Given the description of an element on the screen output the (x, y) to click on. 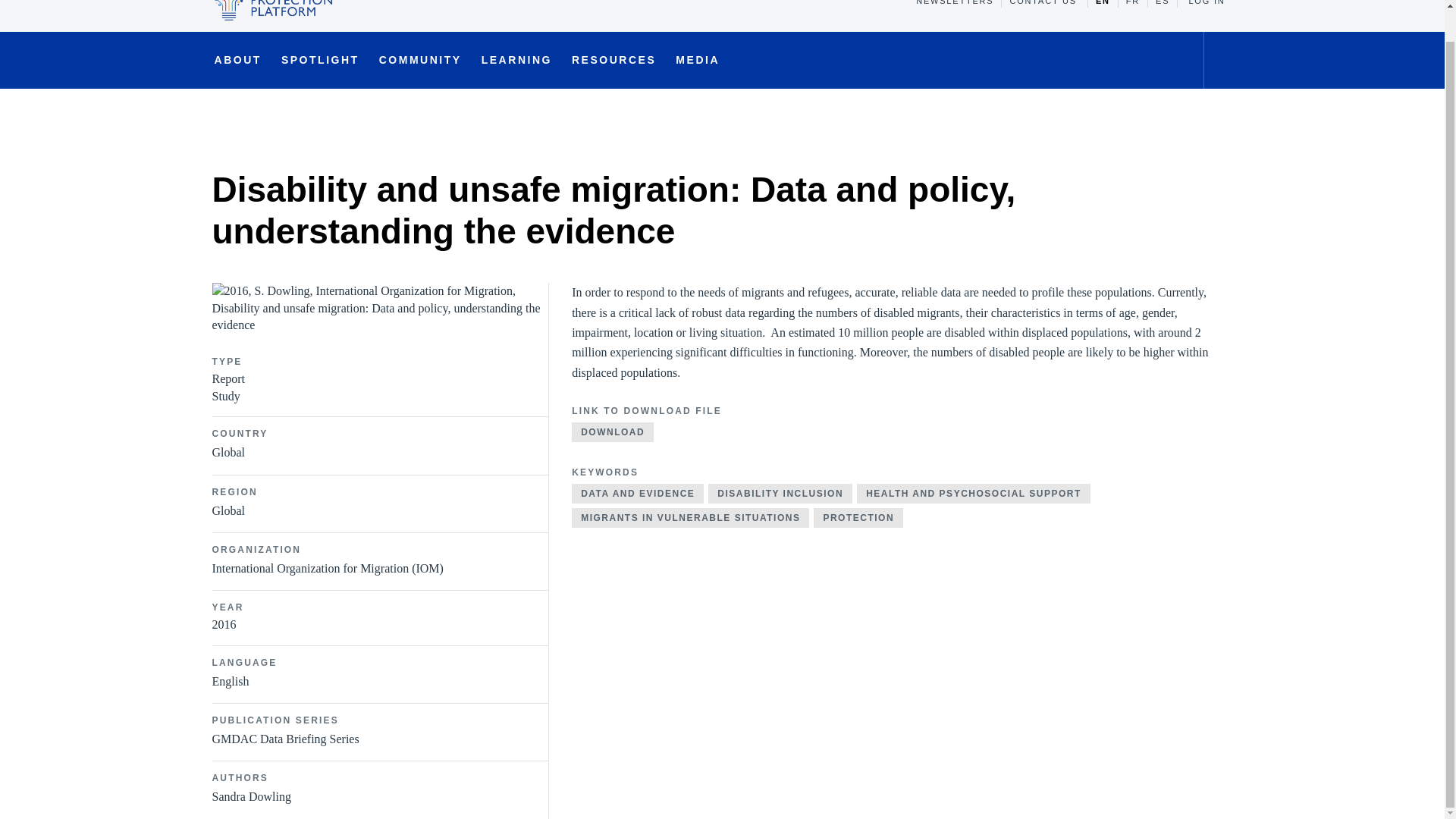
SPOTLIGHT (320, 66)
DISABILITY INCLUSION (779, 493)
ES (1162, 3)
COMMUNITY (419, 66)
FR (1132, 3)
Home (216, 118)
DATA AND EVIDENCE (637, 493)
NEWSLETTERS (954, 3)
CONTACT US (1042, 3)
MIGRANTS IN VULNERABLE SITUATIONS (690, 517)
